Given the description of an element on the screen output the (x, y) to click on. 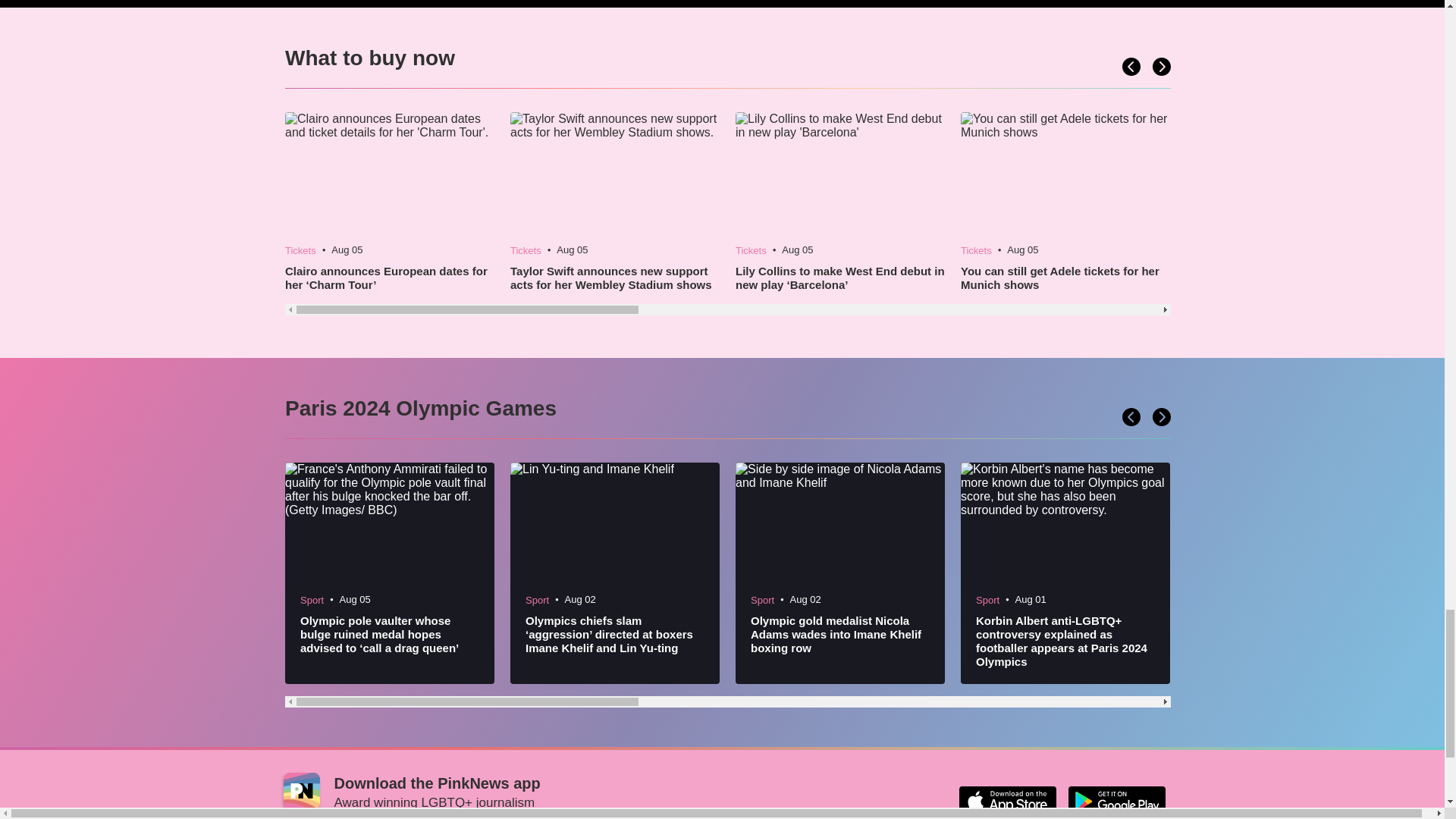
Download the PinkNews app on the Apple App Store (1006, 801)
Download the PinkNews app on Google Play (1115, 801)
